Given the description of an element on the screen output the (x, y) to click on. 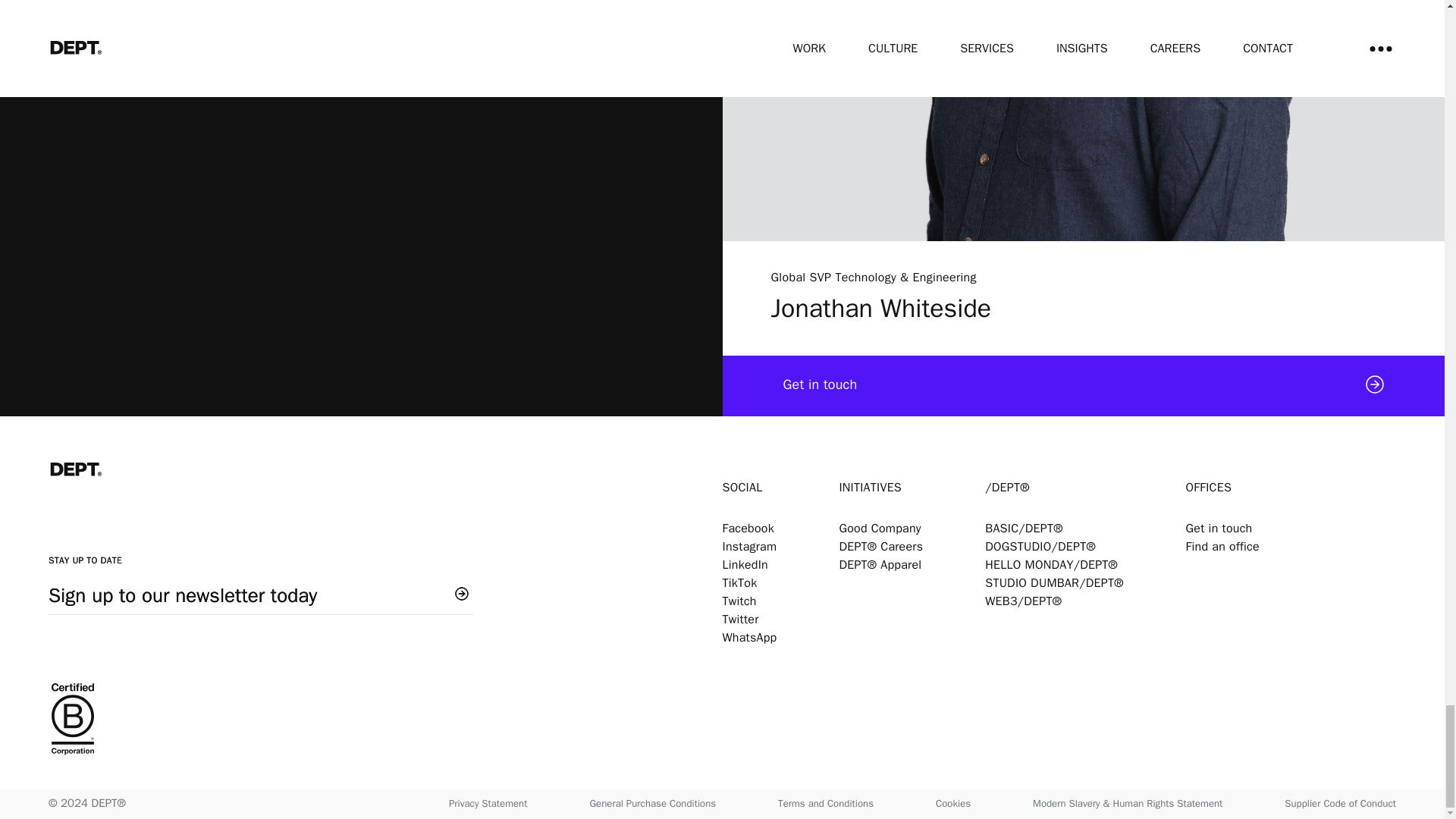
Certified BCorp corporation (385, 720)
